Given the description of an element on the screen output the (x, y) to click on. 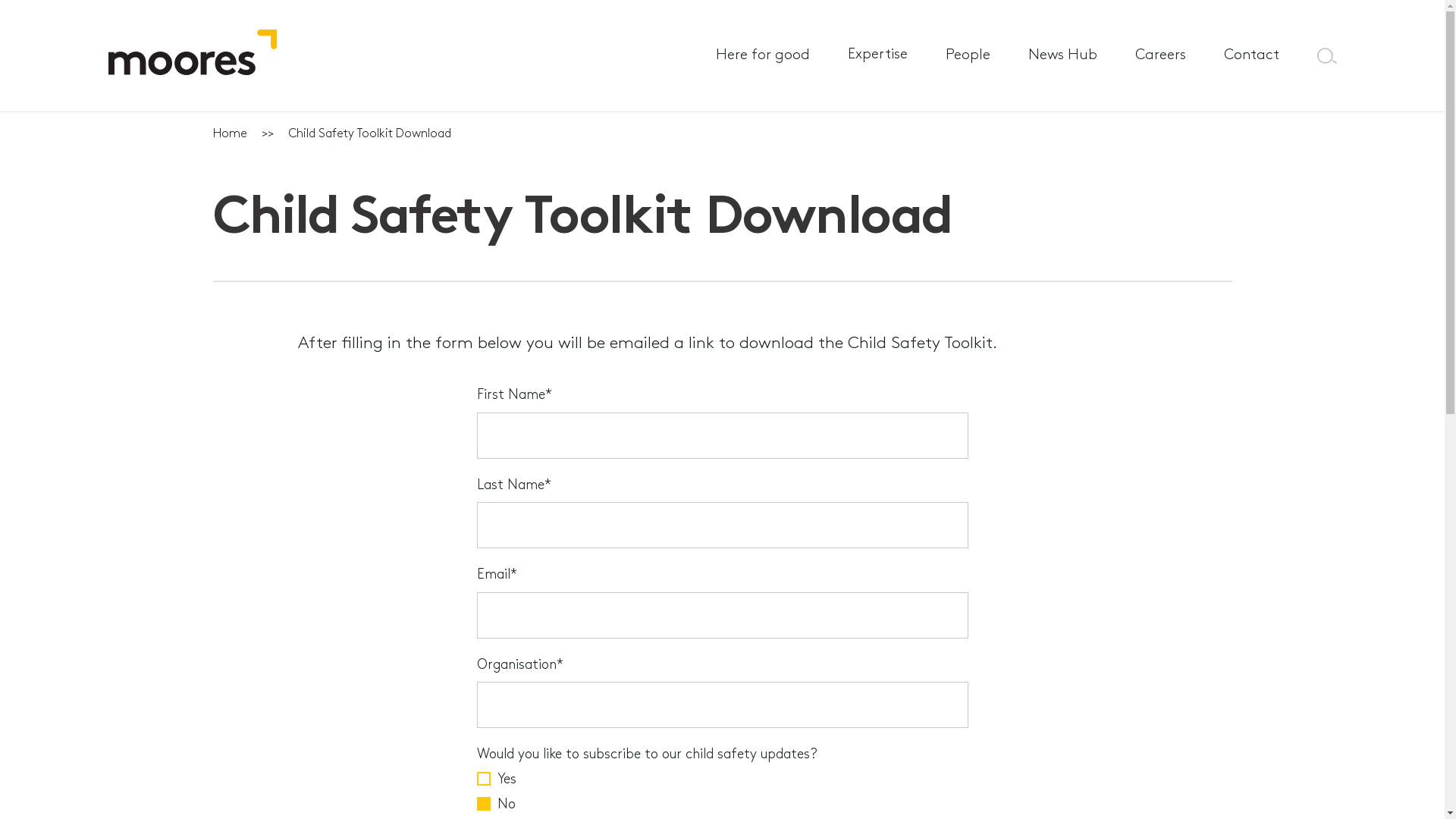
News Hub Element type: text (1062, 55)
Home Element type: text (229, 133)
People Element type: text (966, 55)
Expertise Element type: text (877, 55)
Here for good Element type: text (762, 55)
Careers Element type: text (1159, 55)
Contact Element type: text (1251, 55)
